Given the description of an element on the screen output the (x, y) to click on. 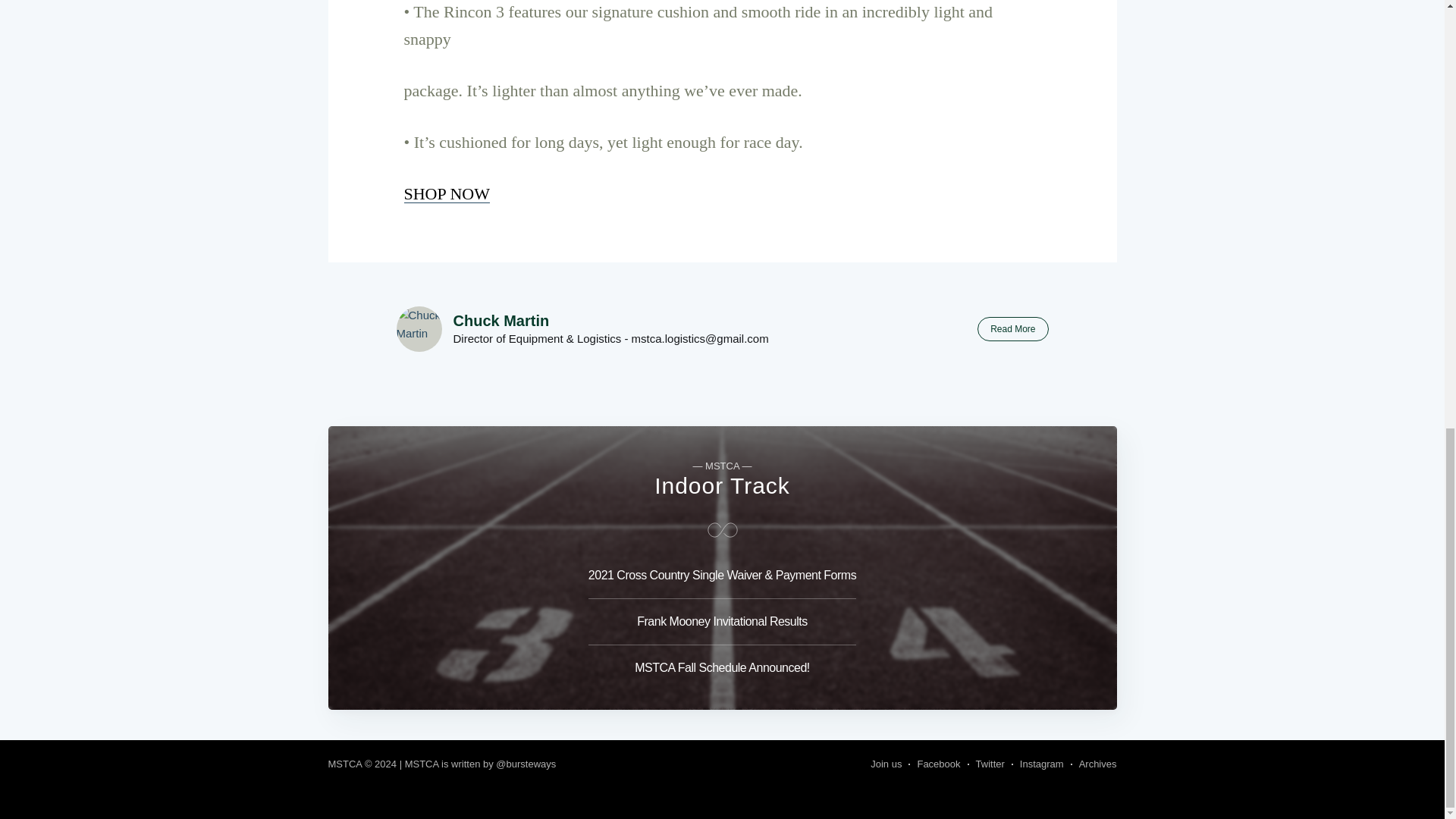
Indoor Track (721, 485)
Read More (1012, 328)
Frank Mooney Invitational Results (722, 621)
SHOP NOW (446, 193)
Chuck Martin (501, 320)
